Given the description of an element on the screen output the (x, y) to click on. 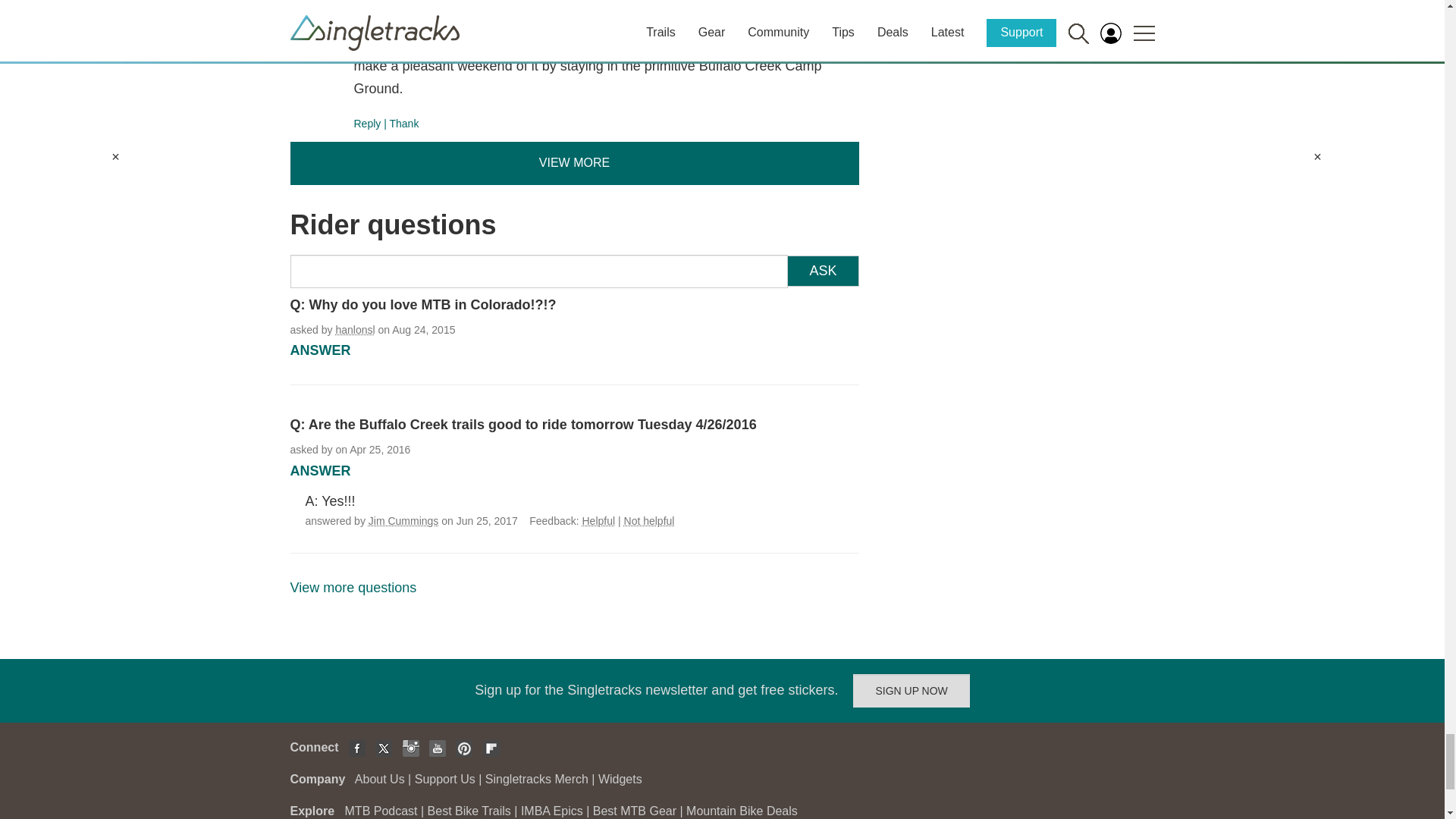
SIGN UP NOW (911, 690)
